Given the description of an element on the screen output the (x, y) to click on. 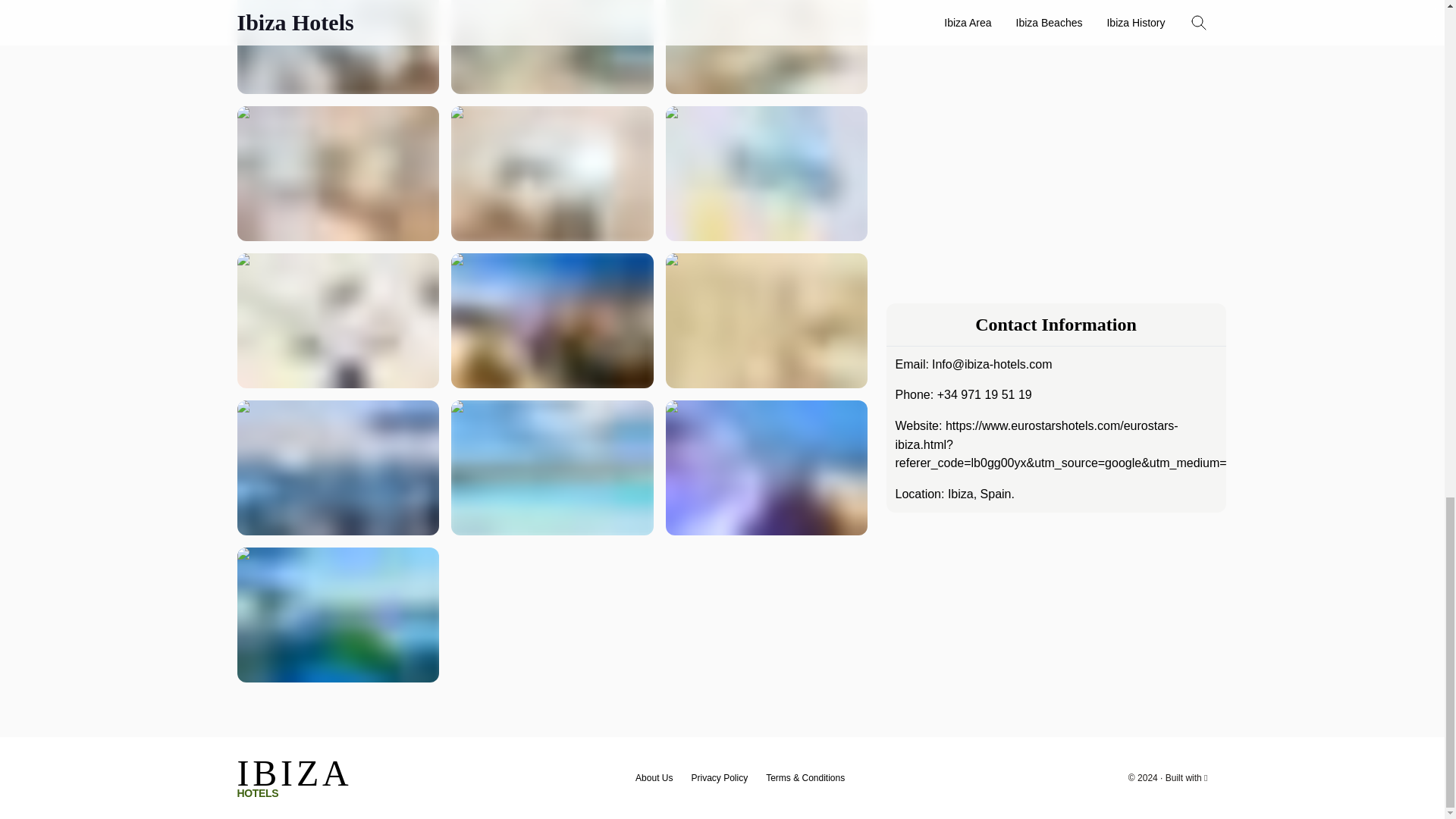
About Us (653, 777)
Privacy Policy (293, 777)
